Given the description of an element on the screen output the (x, y) to click on. 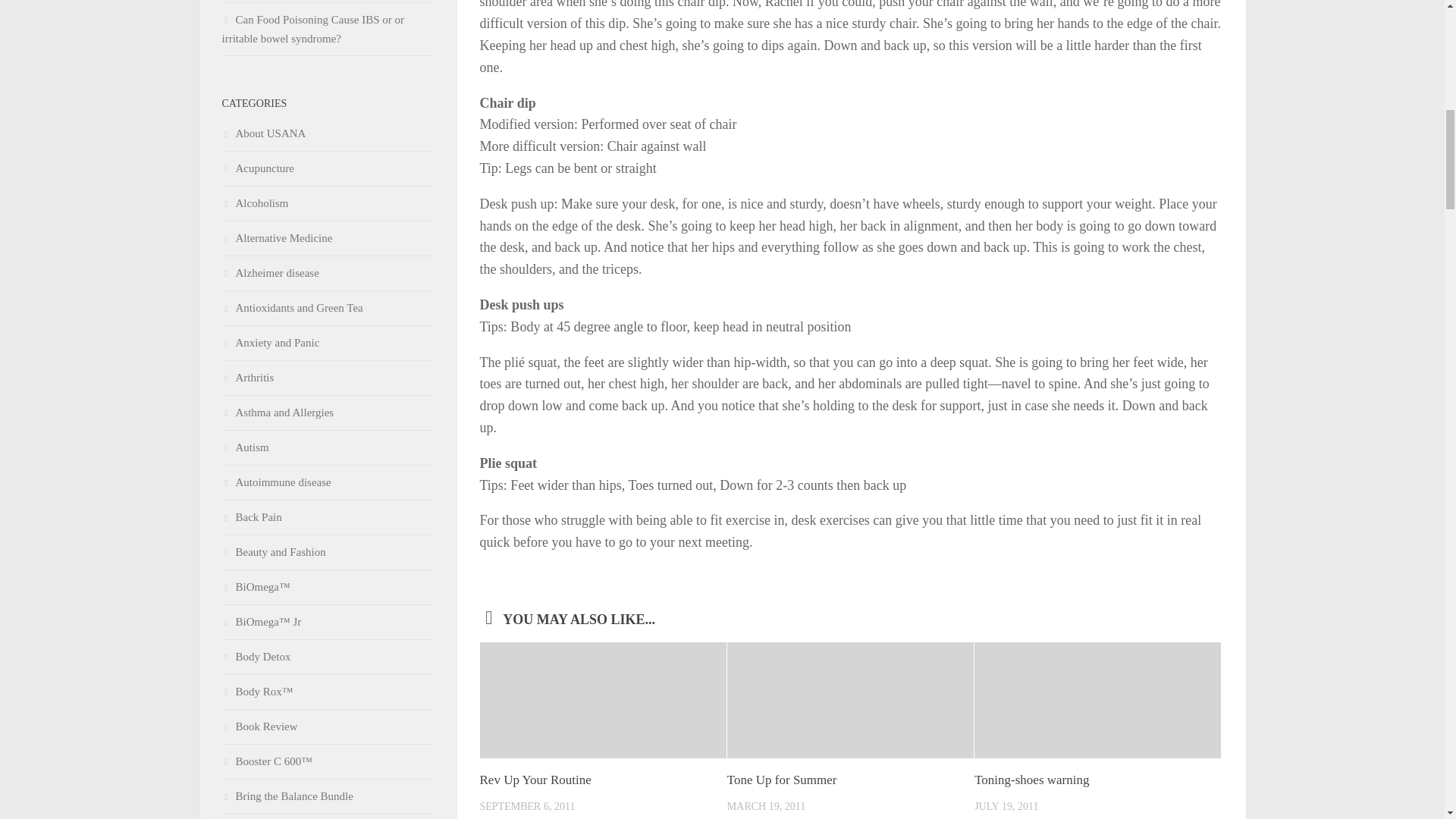
Tone Up for Summer (781, 780)
Permalink to Toning-shoes warning (1031, 780)
Rev Up Your Routine (535, 780)
About USANA company (263, 133)
Permalink to Tone Up for Summer (781, 780)
Permalink to Rev Up Your Routine (535, 780)
Toning-shoes warning (1031, 780)
